Given the description of an element on the screen output the (x, y) to click on. 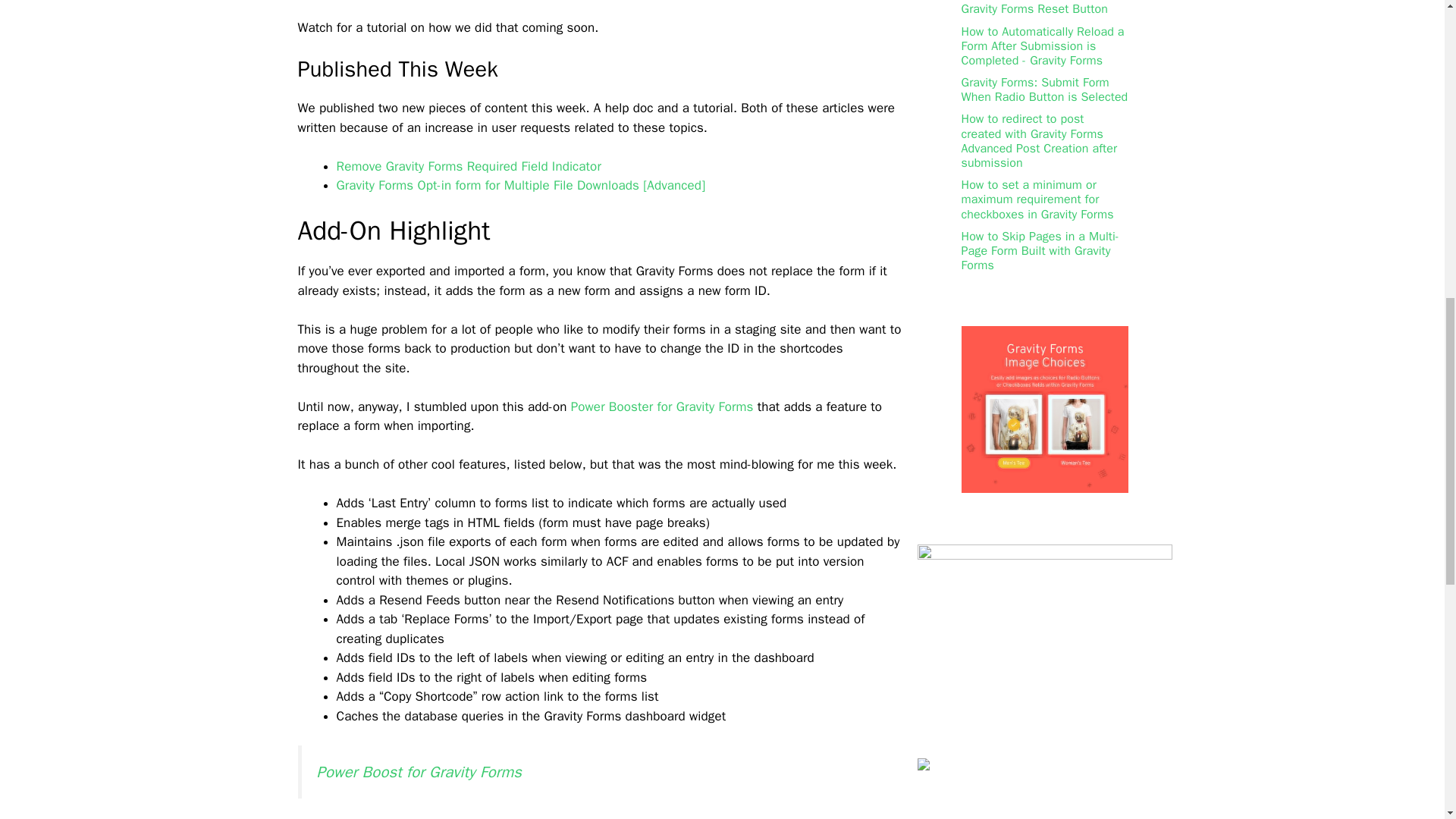
Power Booster for Gravity Forms (662, 406)
Gravity Forms Reset Button (1034, 8)
Gravity Forms: Submit Form When Radio Button is Selected (1044, 89)
Gravity Forms Image Choices 800x800 (1044, 488)
Power Boost for Gravity Forms (419, 772)
Remove Gravity Forms Required Field Indicator (468, 166)
